Given the description of an element on the screen output the (x, y) to click on. 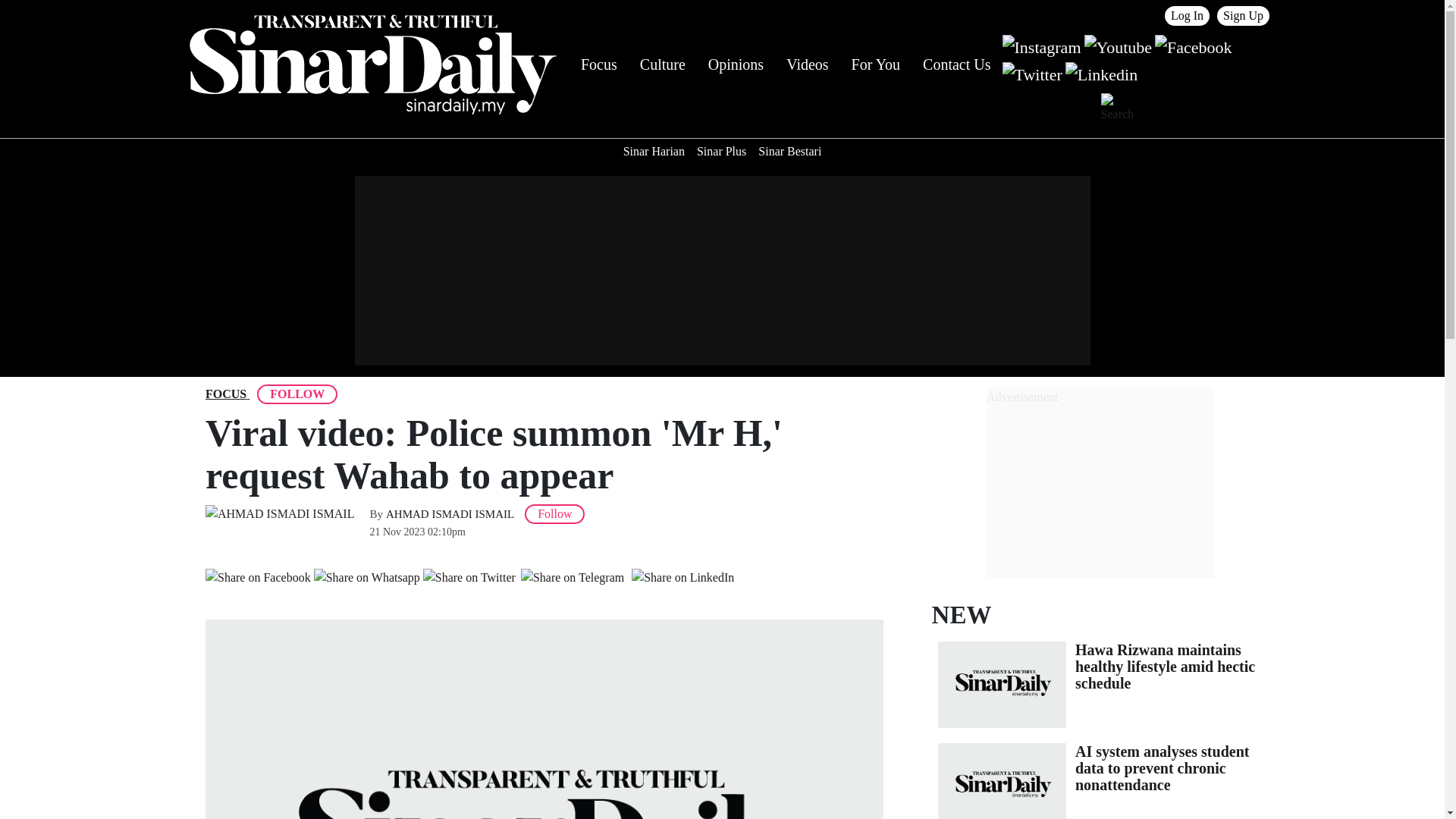
Share on Twitter (469, 577)
Log In (1186, 15)
Linkedin (1101, 72)
Sinar Harian (653, 151)
Share on Telegram (572, 577)
Opinions (734, 64)
Instagram (1042, 46)
AHMAD ISMADI ISMAIL (449, 513)
Share Article on Whatsapp (367, 577)
Sinar Daily (371, 65)
